Given the description of an element on the screen output the (x, y) to click on. 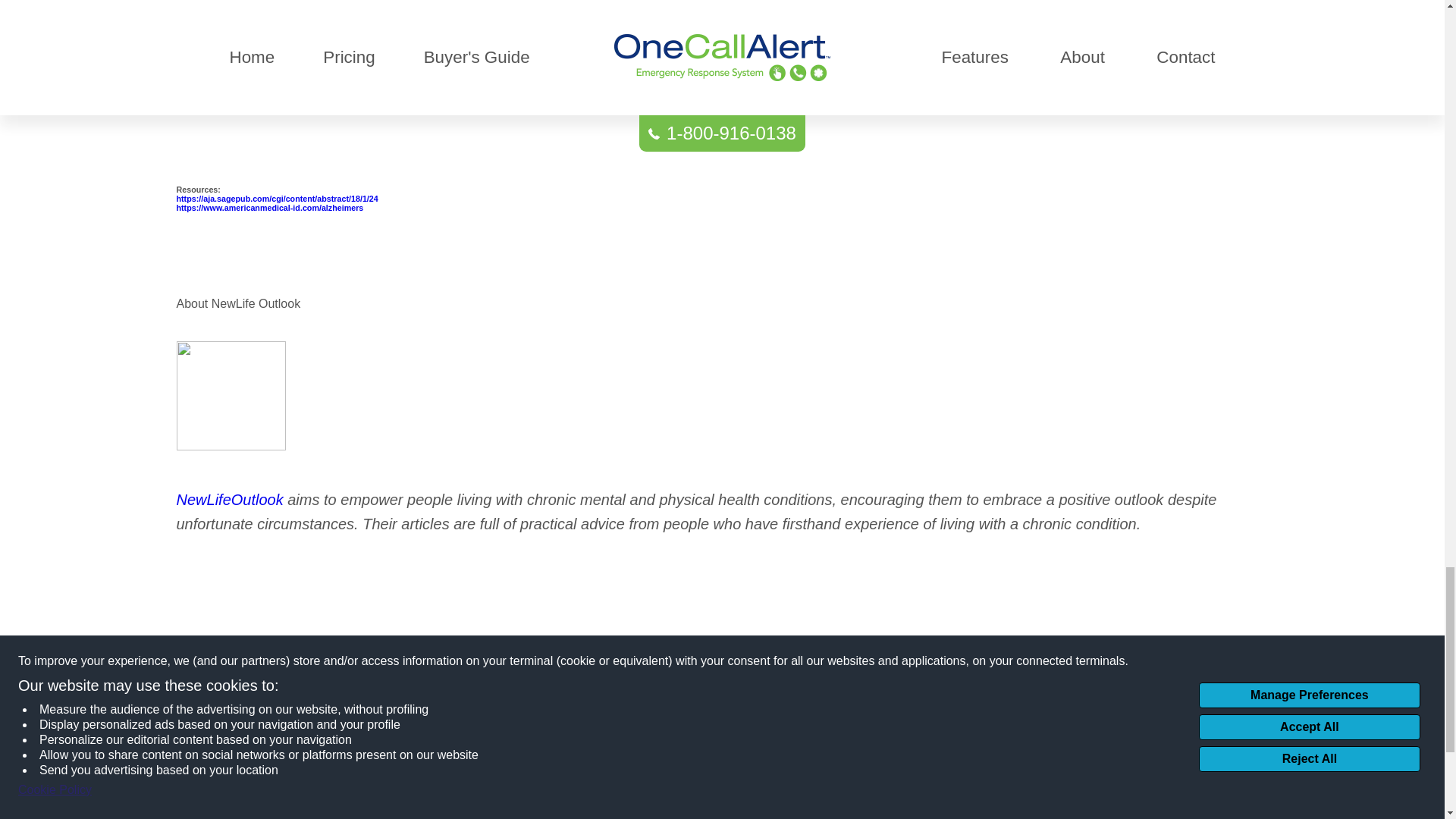
NewLifeOutlook (229, 499)
